Given the description of an element on the screen output the (x, y) to click on. 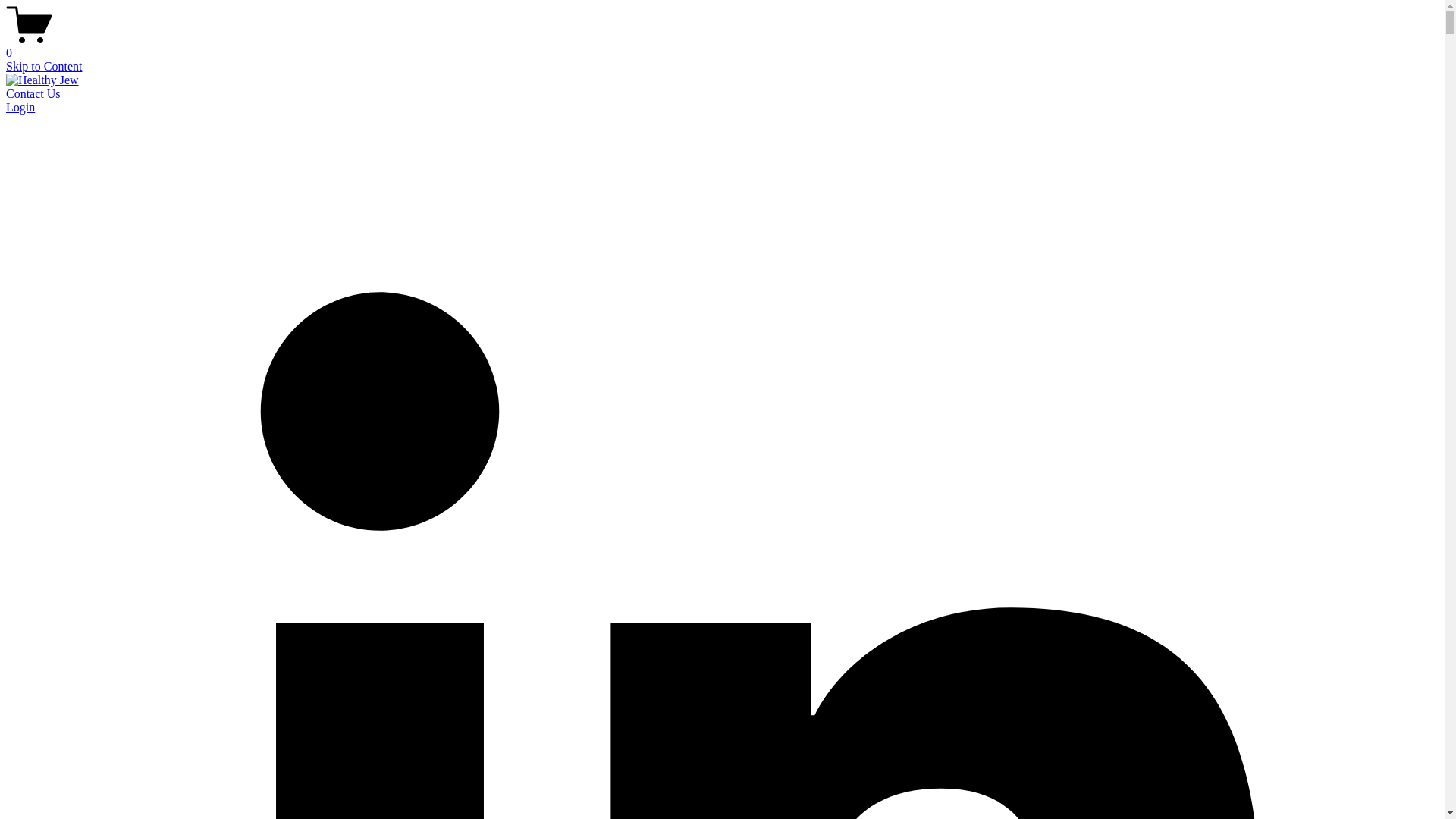
Contact Us (33, 92)
Skip to Content (43, 65)
Login (19, 106)
